Given the description of an element on the screen output the (x, y) to click on. 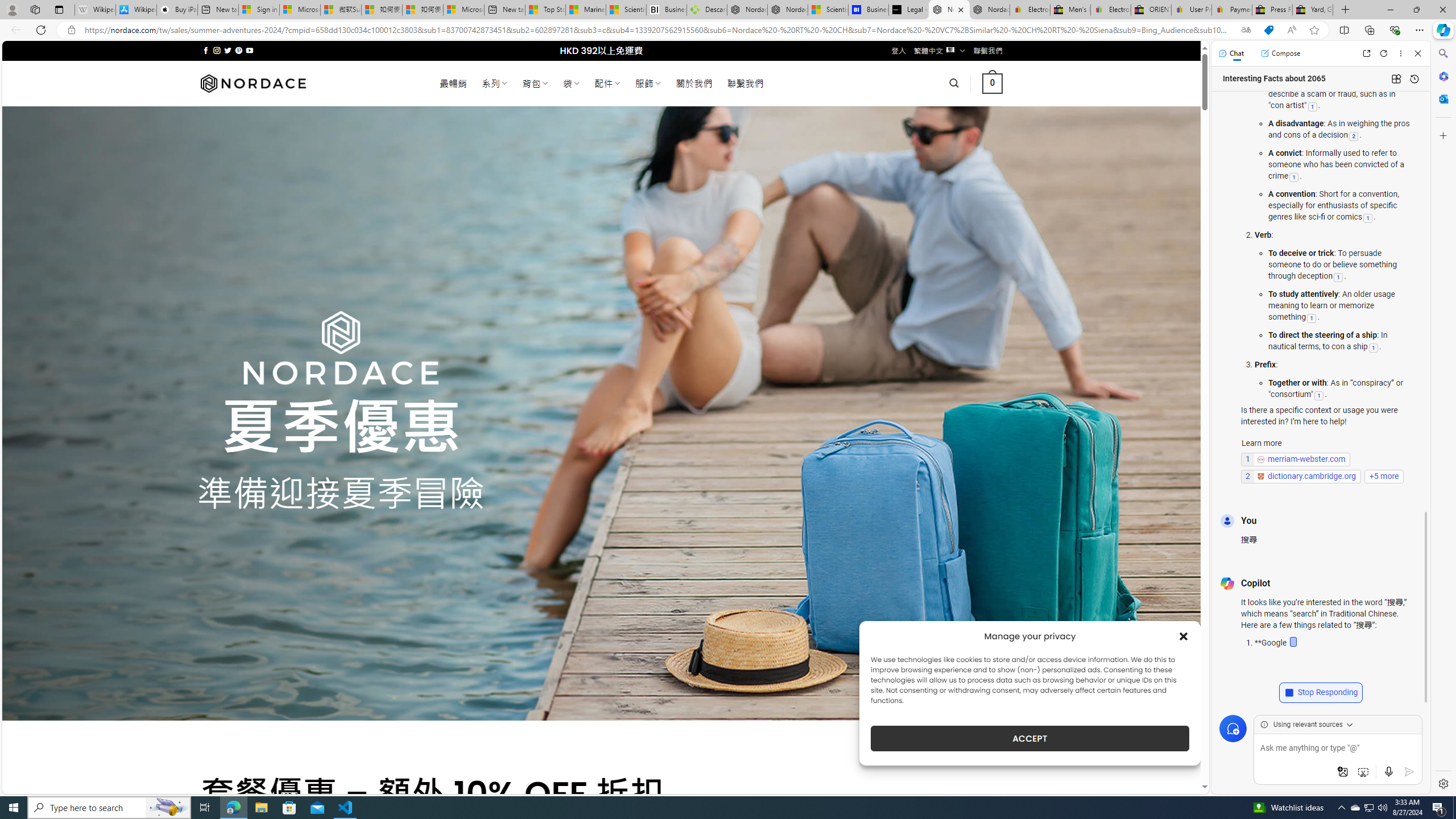
Microsoft account | Account Checkup (463, 9)
Follow on Twitter (227, 50)
Yard, Garden & Outdoor Living (1312, 9)
Nordace - Summer Adventures 2024 (949, 9)
 0  (992, 83)
Follow on Pinterest (237, 50)
Minimize Search pane (1442, 53)
